Given the description of an element on the screen output the (x, y) to click on. 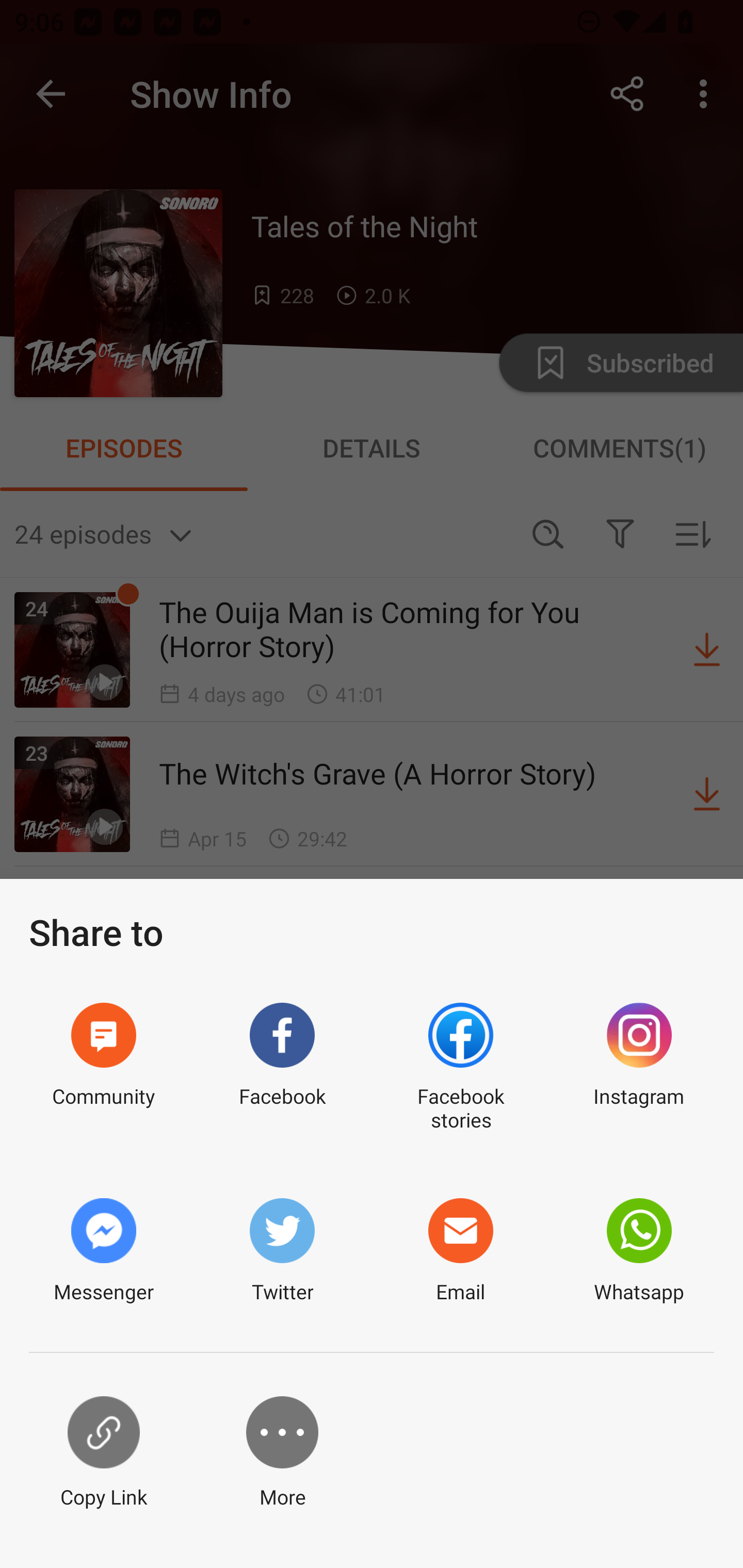
Community (103, 1067)
Facebook (282, 1067)
Facebook stories (460, 1067)
Instagram (638, 1067)
Messenger (103, 1251)
Twitter (282, 1251)
Email (460, 1251)
Whatsapp (638, 1251)
Copy Link (103, 1453)
More (282, 1453)
